Given the description of an element on the screen output the (x, y) to click on. 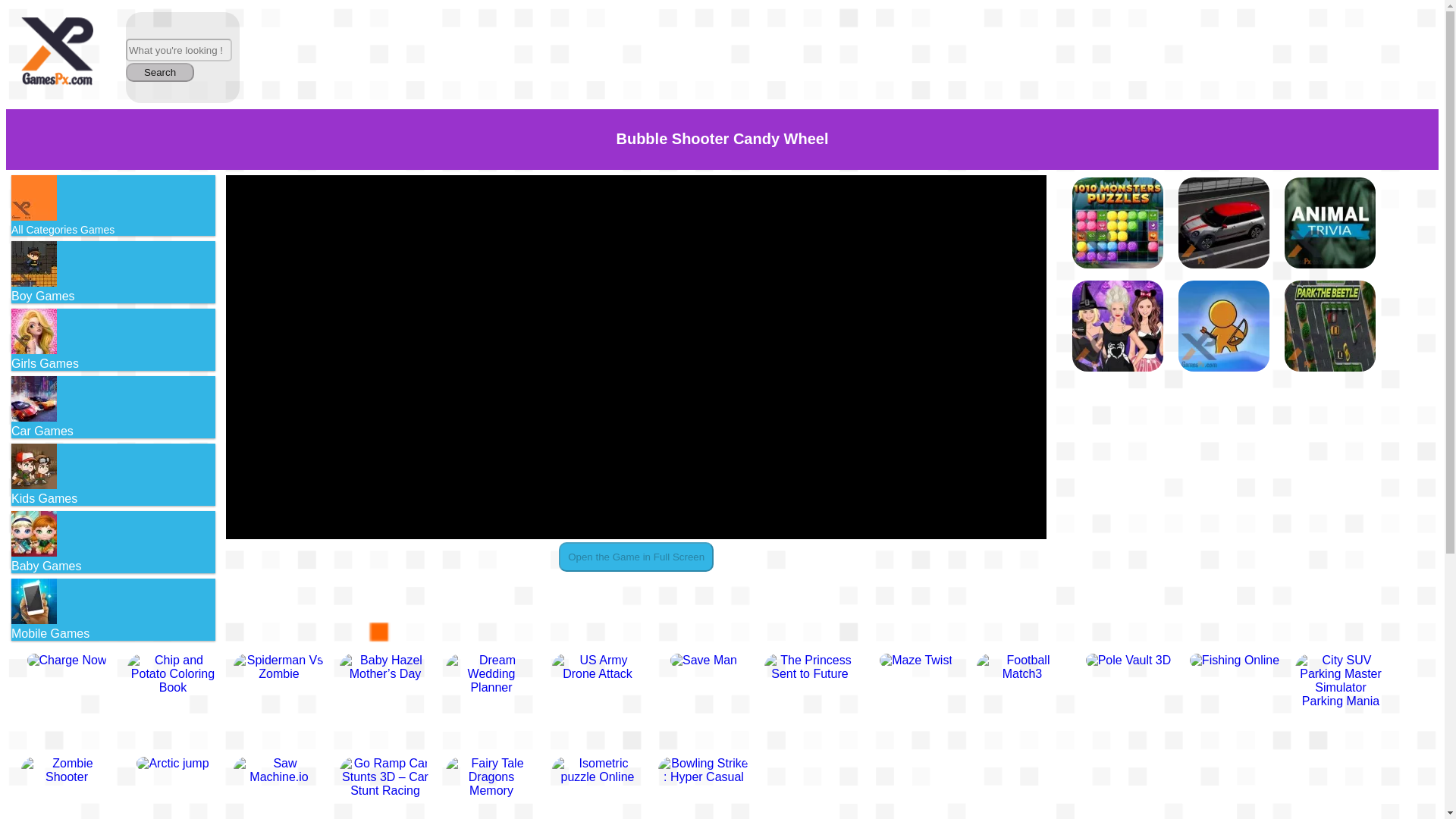
Animal Trivia (1329, 222)
Boy Games (33, 263)
All Categories Games (33, 197)
Animal Trivia (1329, 224)
Games (57, 54)
All Categories Games (113, 205)
Games (57, 53)
Mini Sports Cars Puzzle (1223, 222)
Halloween dress up (1117, 325)
Open the Game in Full Screen (636, 556)
Halloween dress up (1117, 326)
Kids Games (33, 465)
Baby Games (33, 533)
Good Arrow (1223, 326)
Search (159, 72)
